Given the description of an element on the screen output the (x, y) to click on. 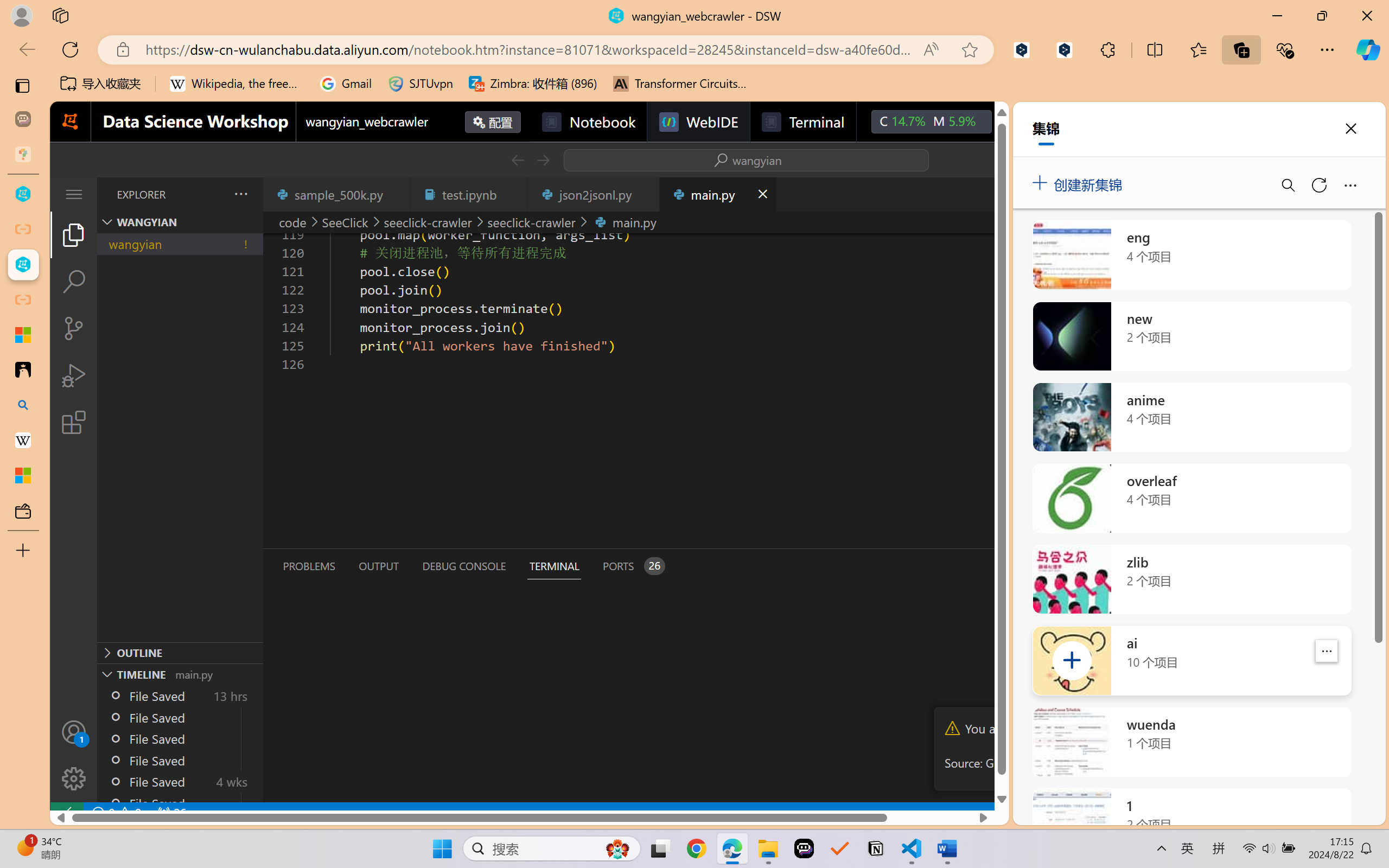
remote (66, 812)
Class: actions-container (716, 159)
Adjust indents and spacing - Microsoft Support (22, 334)
Outline Section (179, 652)
Views and More Actions... (240, 193)
SJTUvpn (419, 83)
